Given the description of an element on the screen output the (x, y) to click on. 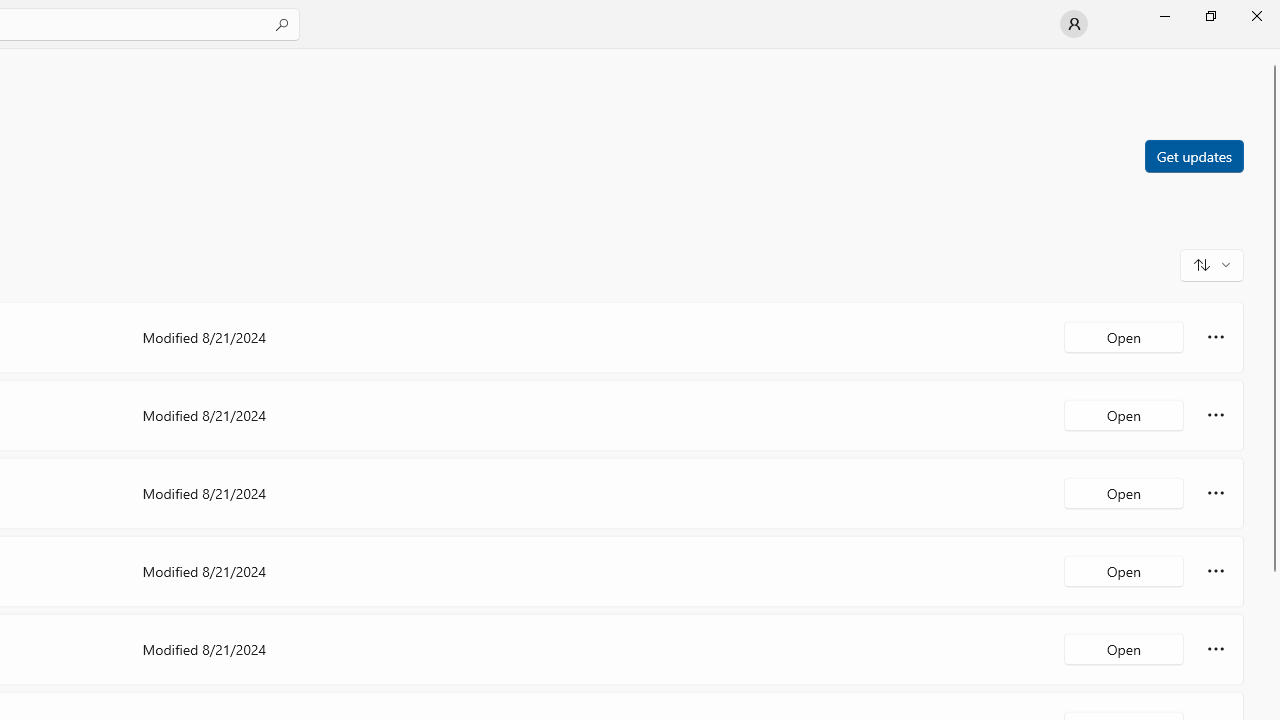
Get updates (1193, 155)
Sort and filter (1212, 263)
Vertical Small Decrease (1272, 55)
Open (1123, 648)
More options (1215, 648)
